Given the description of an element on the screen output the (x, y) to click on. 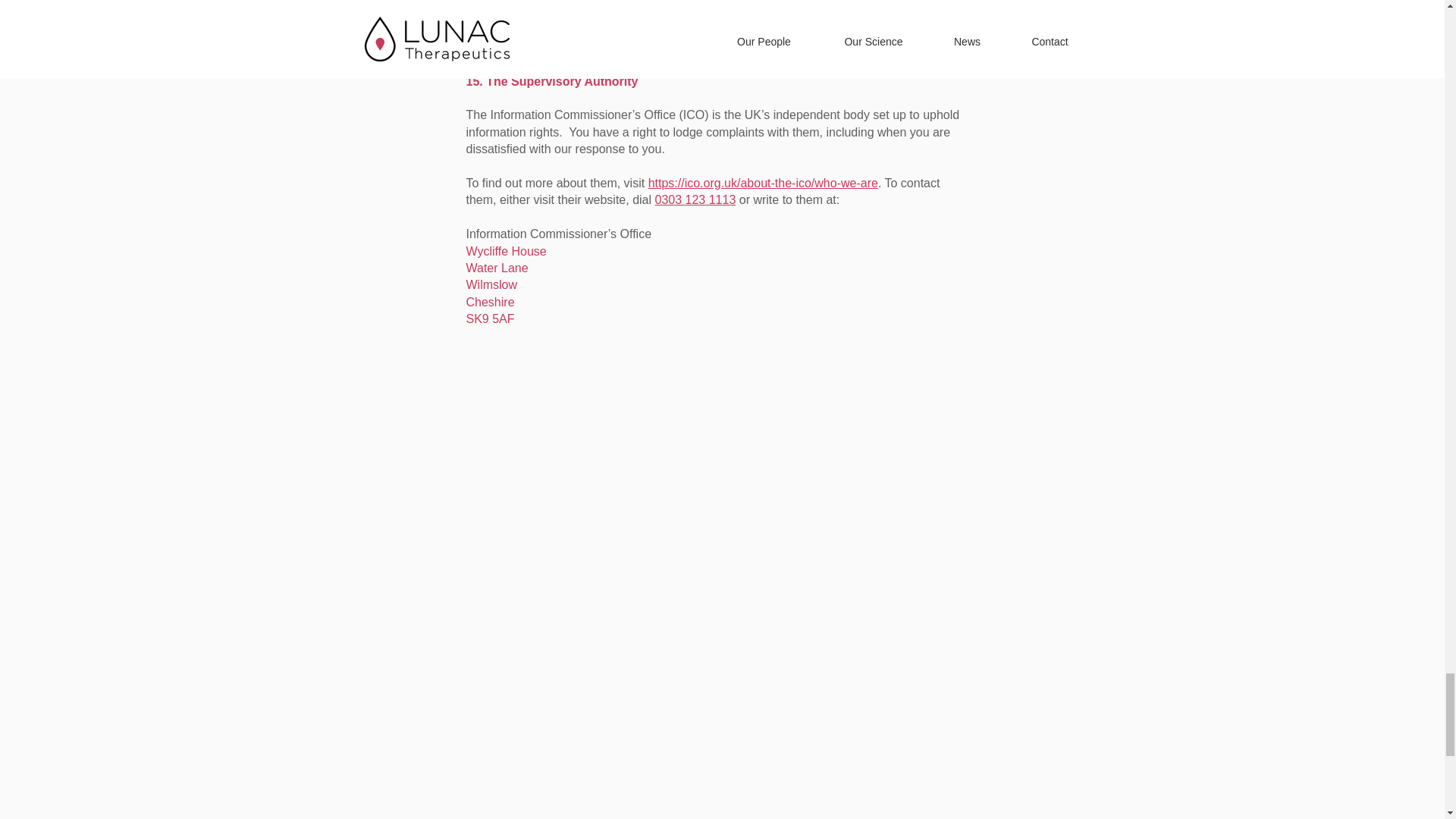
0303 123 1113 (695, 199)
